Given the description of an element on the screen output the (x, y) to click on. 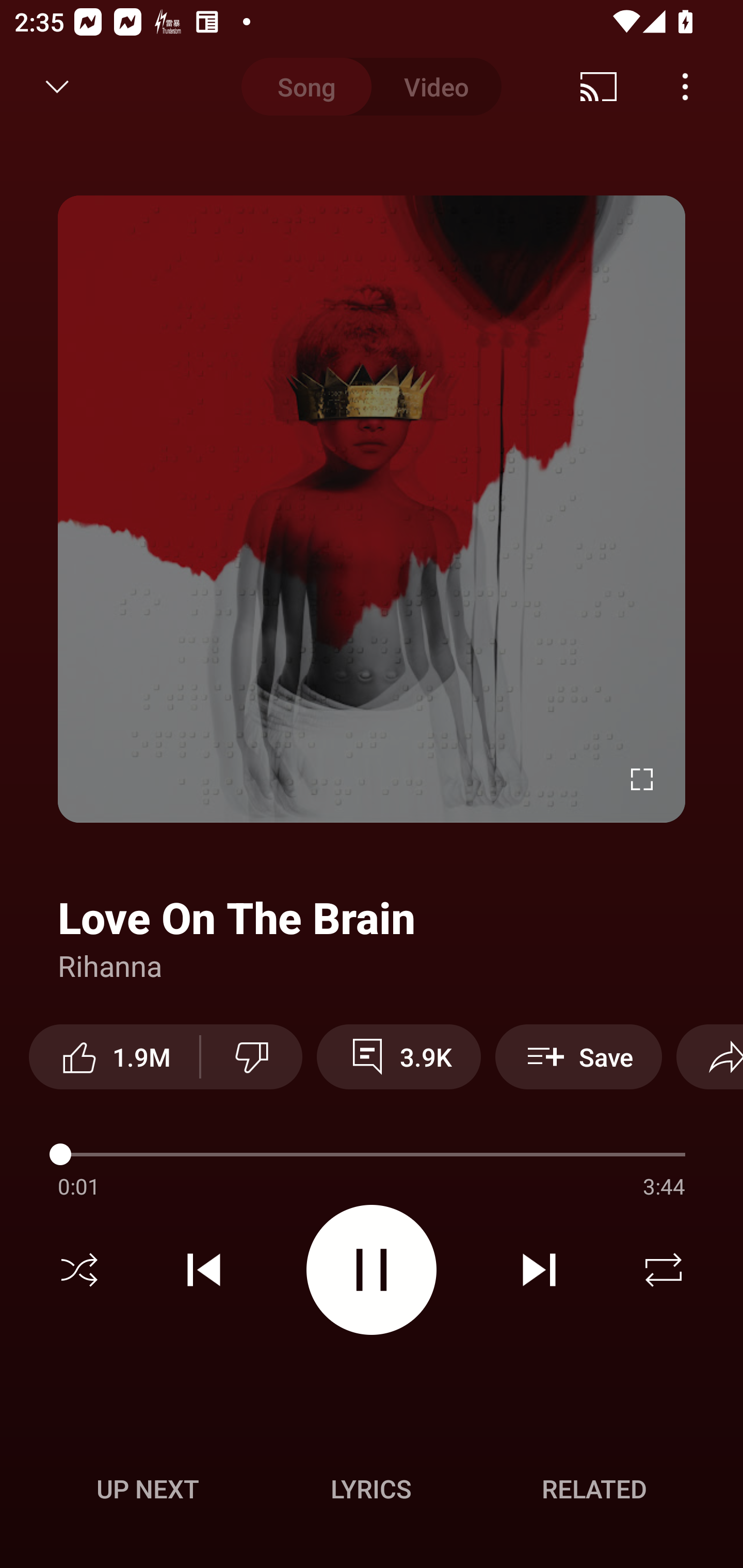
Minimize (57, 86)
Share (605, 86)
Search (692, 86)
Action menu (371, 919)
Dislike (251, 1056)
3.9K View 3,928 comments (398, 1056)
Save Save to playlist (578, 1056)
Share (709, 1056)
Action menu (371, 1179)
Pause video (371, 1269)
Shuffle off (79, 1269)
Previous track (203, 1269)
Next track (538, 1269)
Repeat off (663, 1269)
Up next UP NEXT Lyrics LYRICS Related RELATED (371, 1491)
Lyrics LYRICS (370, 1488)
Related RELATED (594, 1488)
